Given the description of an element on the screen output the (x, y) to click on. 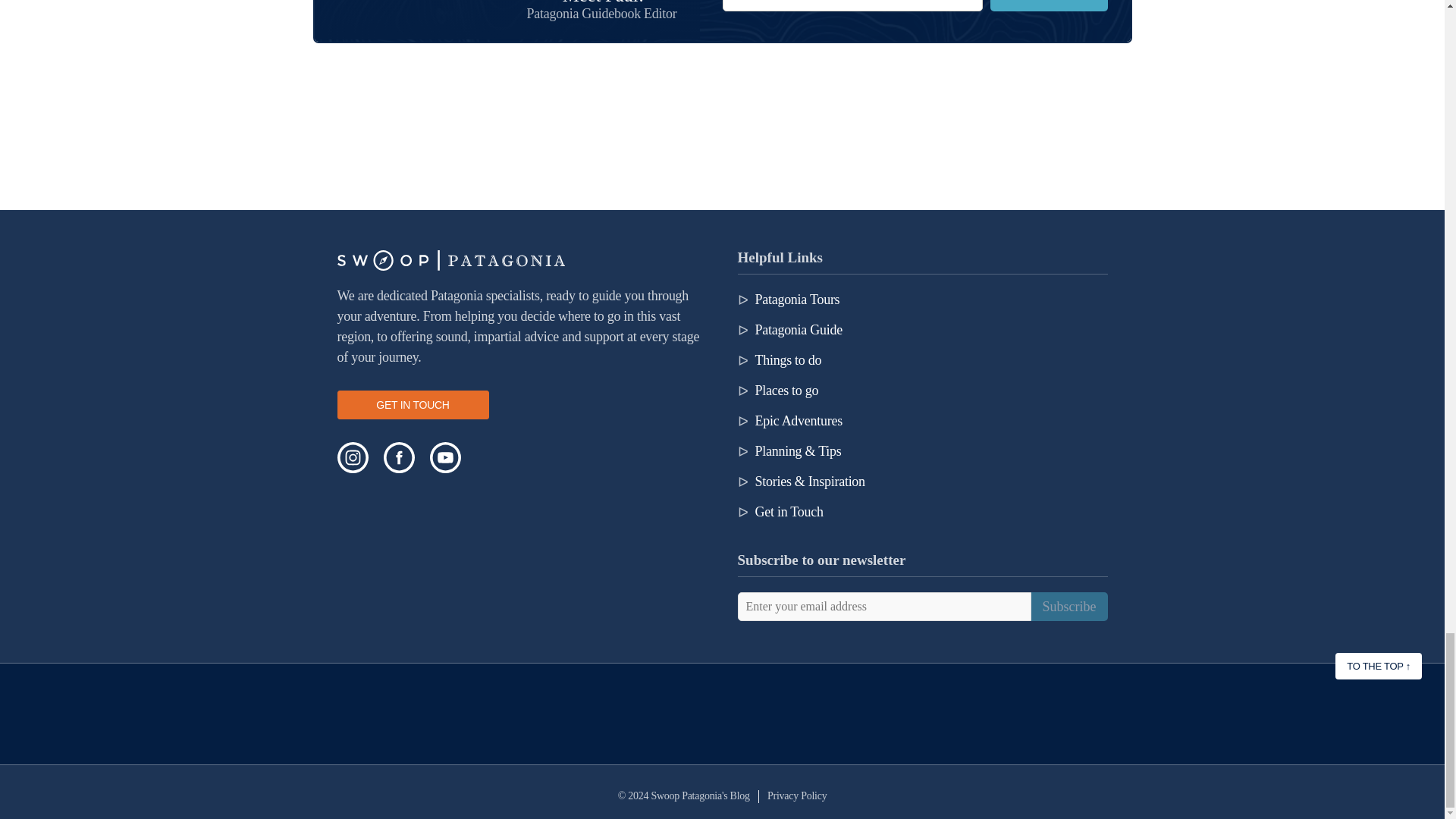
Facebook (399, 457)
Subscribe (1048, 6)
Instagram (352, 457)
YouTube (444, 457)
